Given the description of an element on the screen output the (x, y) to click on. 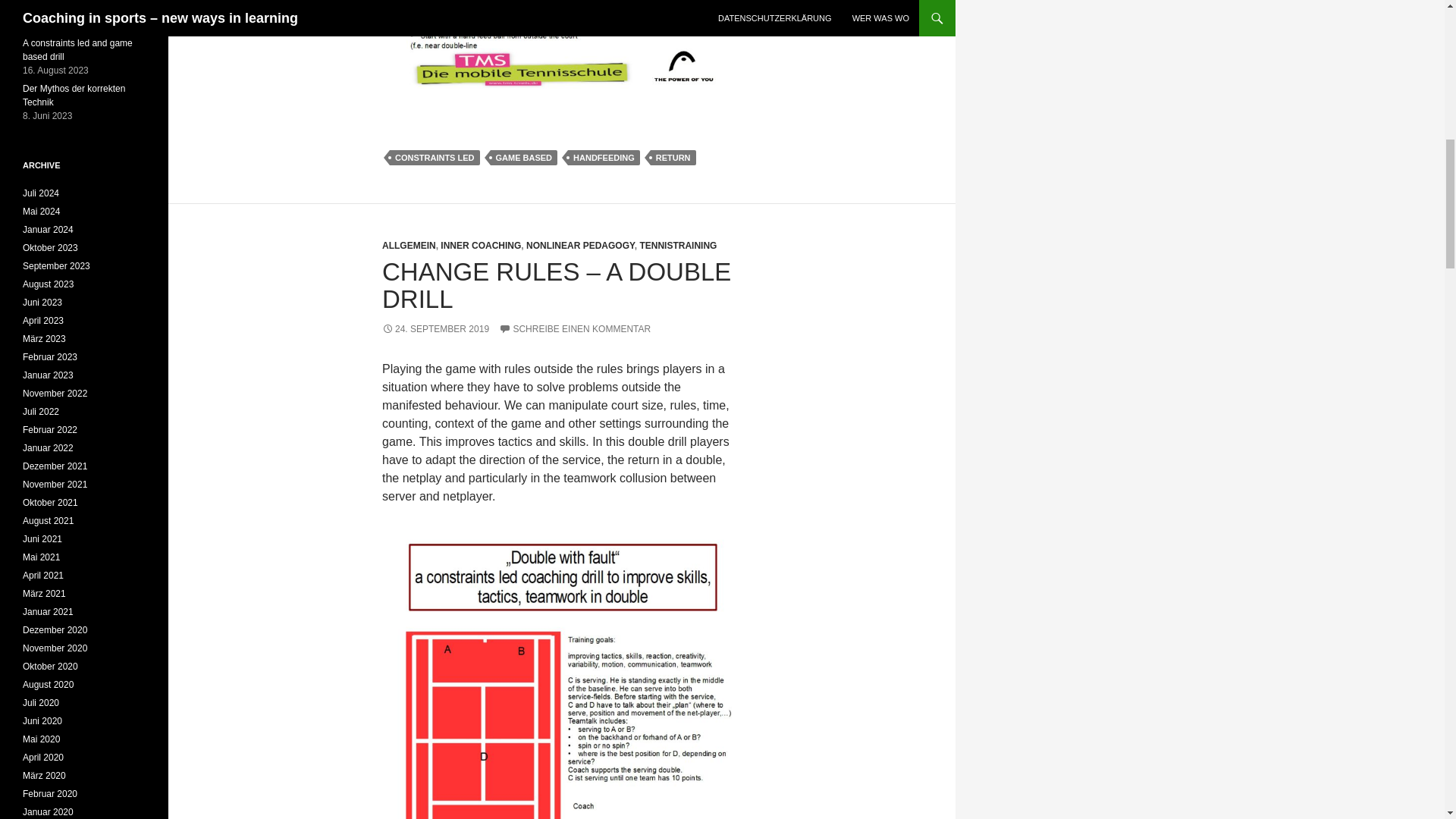
INNER COACHING (481, 245)
24. SEPTEMBER 2019 (435, 328)
GAME BASED (523, 157)
ALLGEMEIN (408, 245)
RETURN (672, 157)
SCHREIBE EINEN KOMMENTAR (574, 328)
NONLINEAR PEDAGOGY (579, 245)
HANDFEEDING (603, 157)
CONSTRAINTS LED (435, 157)
TENNISTRAINING (677, 245)
